Given the description of an element on the screen output the (x, y) to click on. 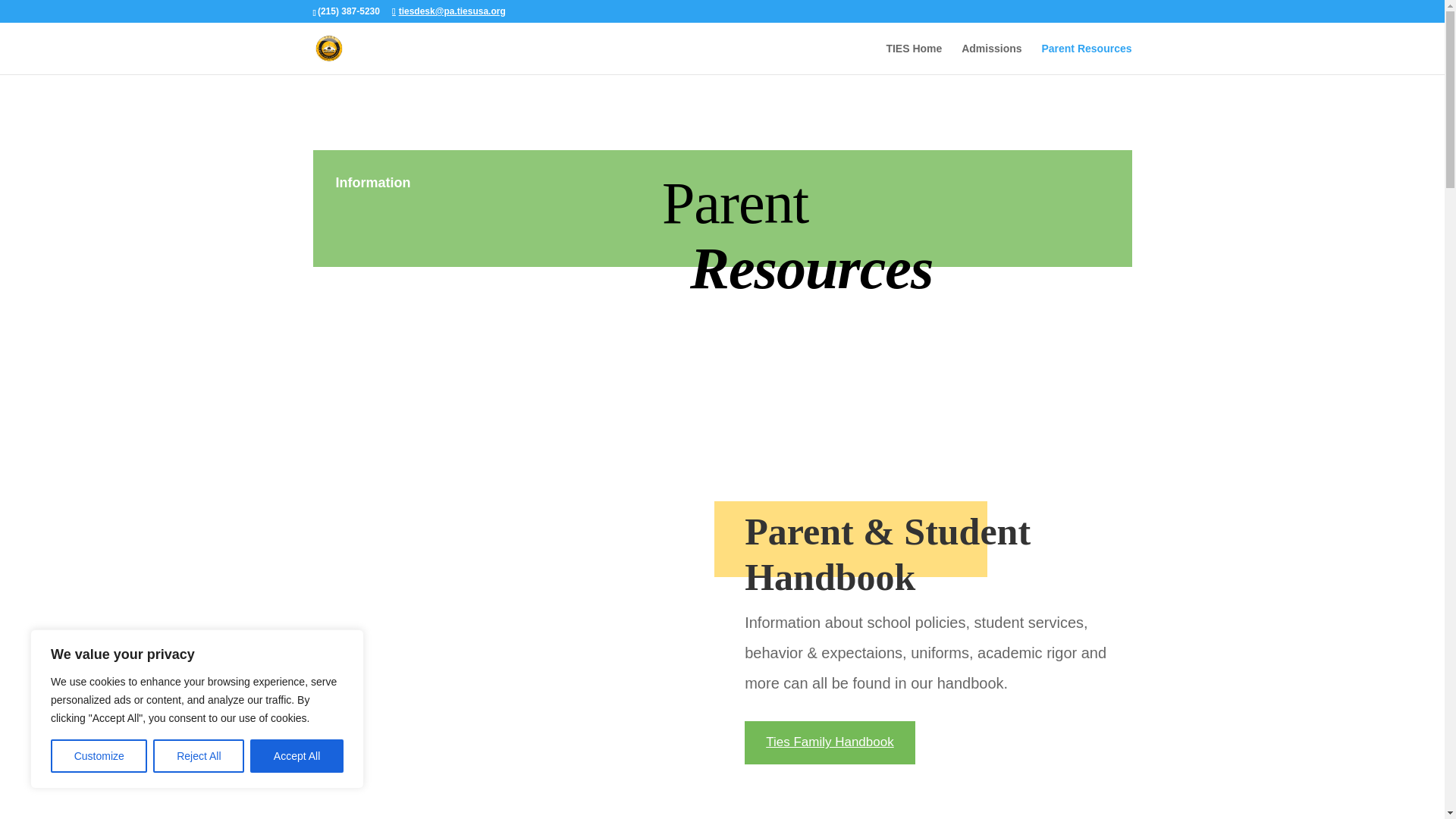
Admissions (991, 58)
Customize (98, 756)
Accept All (296, 756)
TIES Home (913, 58)
Reject All (198, 756)
Parent Resources (1086, 58)
Ties Family Handbook (829, 742)
ties9 (505, 660)
